Given the description of an element on the screen output the (x, y) to click on. 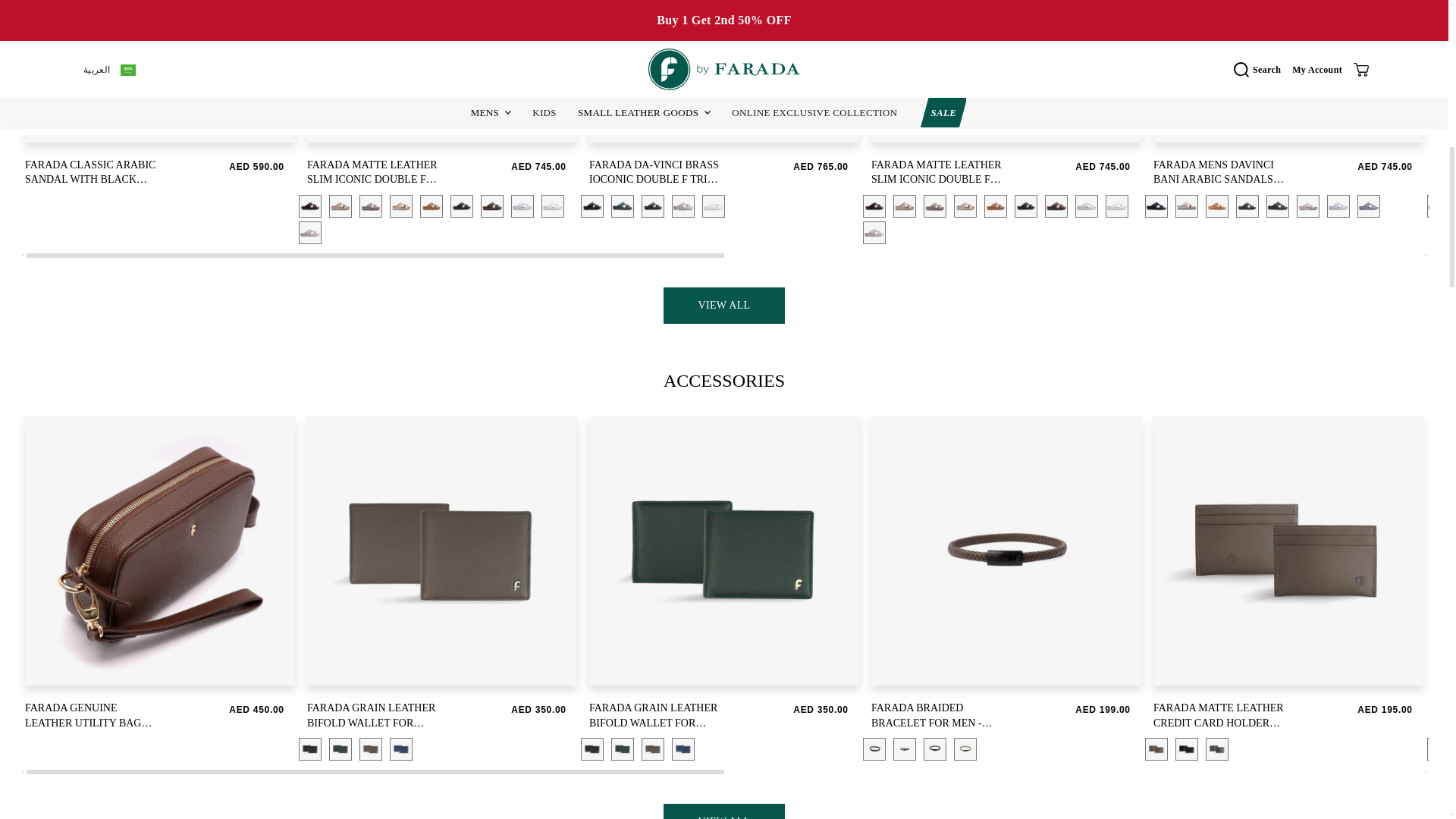
FARADA MENS DAVINCI BANI ARABIC SANDALS SCHIST (1222, 176)
FARADA GENUINE LEATHER UTILITY BAG FOR MEN - TAN (93, 719)
FARADA BRAIDED BRACELET FOR MEN - DARK-GREY (939, 719)
FARADA GRAIN LEATHER BIFOLD WALLET FOR MENS DARK-GREY (374, 719)
FARADA CLASSIC ARABIC SANDAL WITH BLACK SOLE BLACK (93, 176)
FARADA GRAIN LEATHER BIFOLD WALLET FOR MENS DARK- GREEN (657, 719)
